Given the description of an element on the screen output the (x, y) to click on. 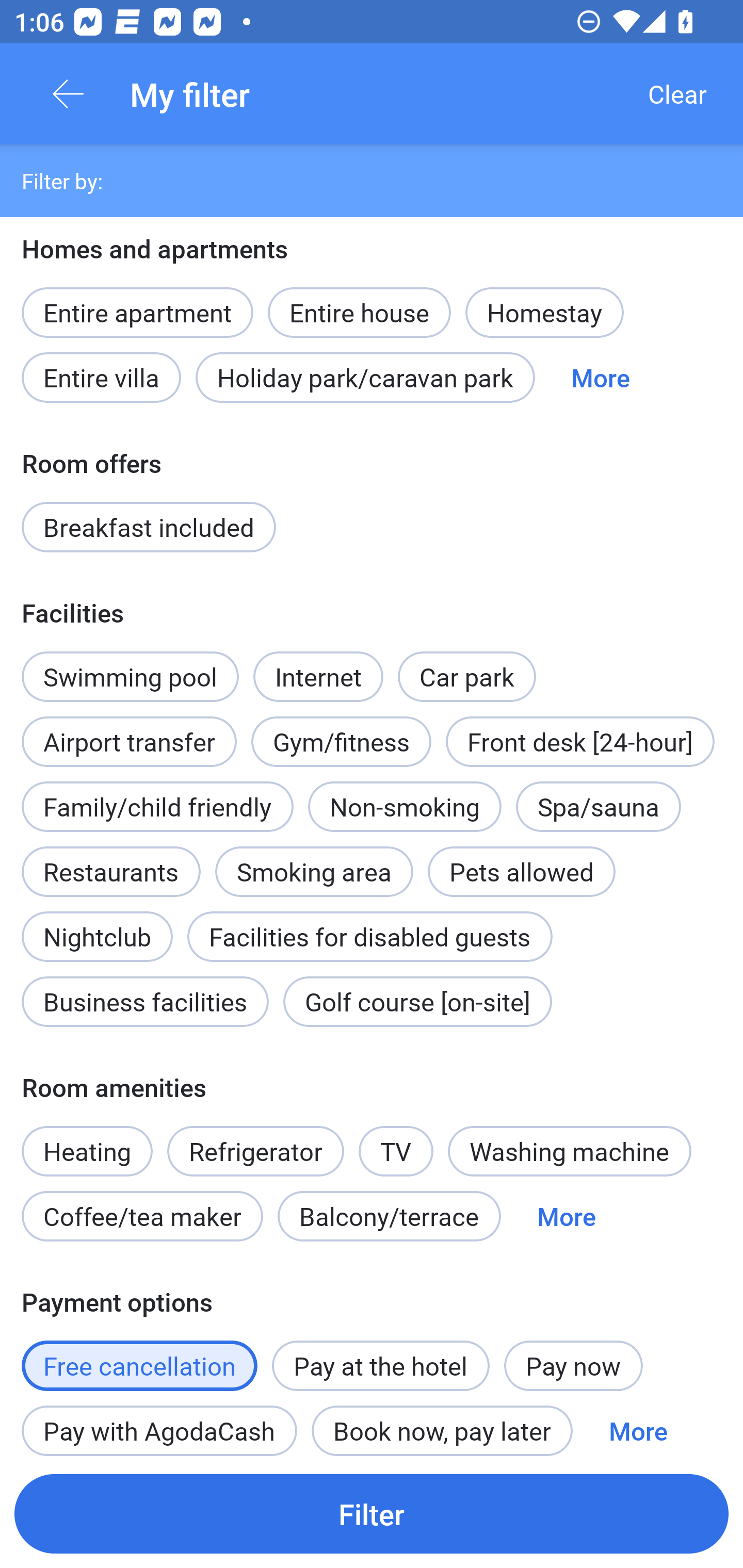
Clear (676, 93)
Entire apartment (137, 312)
Entire house (359, 301)
Homestay (544, 312)
Entire villa (101, 376)
Holiday park/caravan park (364, 376)
More (600, 376)
Breakfast included (148, 527)
Swimming pool (130, 676)
Internet (318, 665)
Car park (466, 676)
Airport transfer (129, 730)
Gym/fitness (341, 741)
Front desk [24-hour] (579, 741)
Family/child friendly (157, 806)
Non-smoking (404, 806)
Spa/sauna (598, 806)
Restaurants (110, 871)
Smoking area (314, 860)
Pets allowed (521, 871)
Nightclub (97, 925)
Facilities for disabled guests (369, 936)
Business facilities (144, 1001)
Golf course [on-site] (417, 1001)
Heating (87, 1140)
Refrigerator (255, 1151)
TV (395, 1140)
Washing machine (569, 1151)
Coffee/tea maker (142, 1215)
Balcony/terrace (388, 1215)
More (566, 1215)
Pay at the hotel (380, 1365)
Pay now (572, 1365)
Pay with AgodaCash (159, 1423)
Book now, pay later (441, 1423)
More (637, 1423)
Filter (371, 1513)
